Given the description of an element on the screen output the (x, y) to click on. 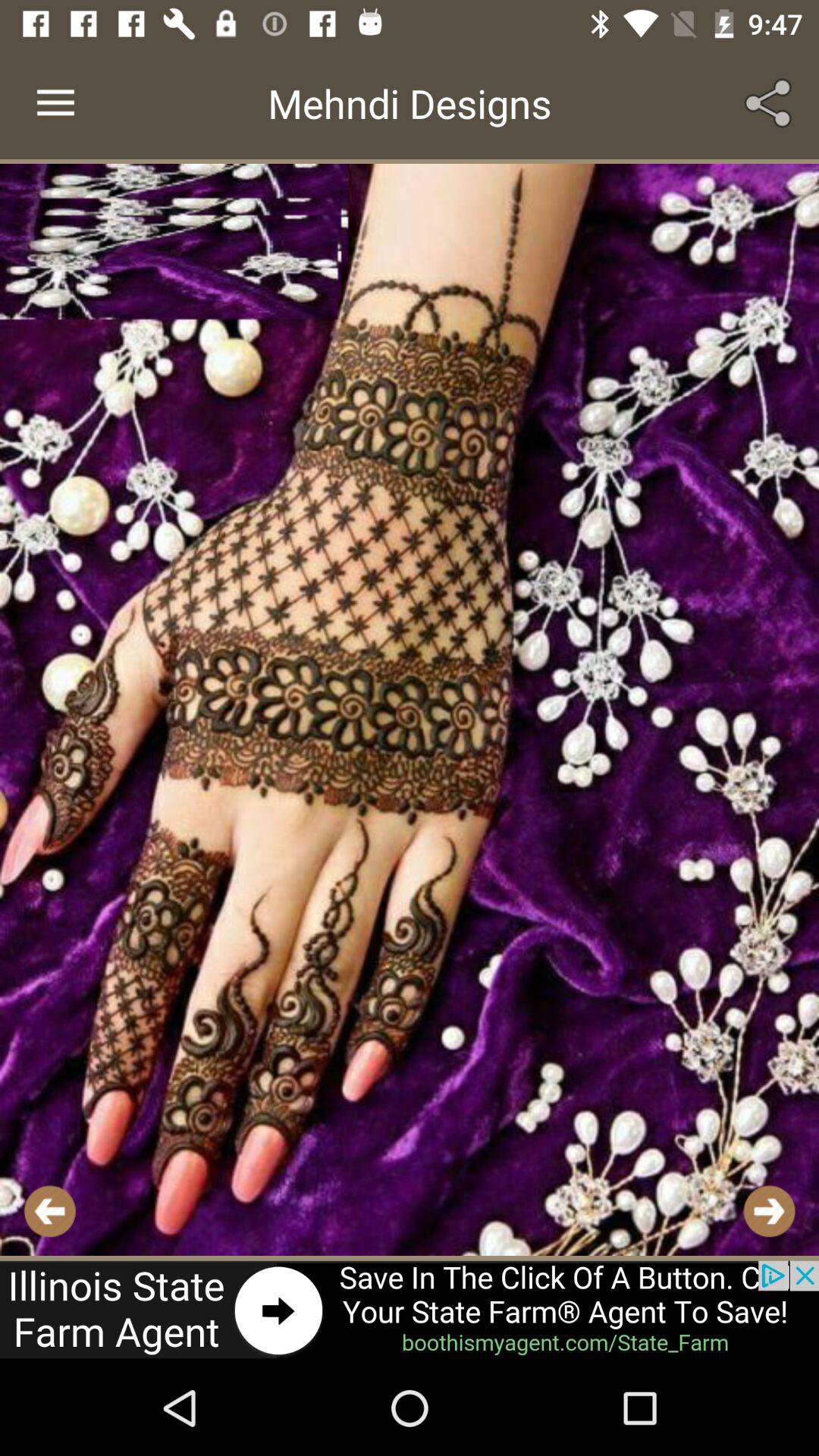
go to next (769, 1210)
